Given the description of an element on the screen output the (x, y) to click on. 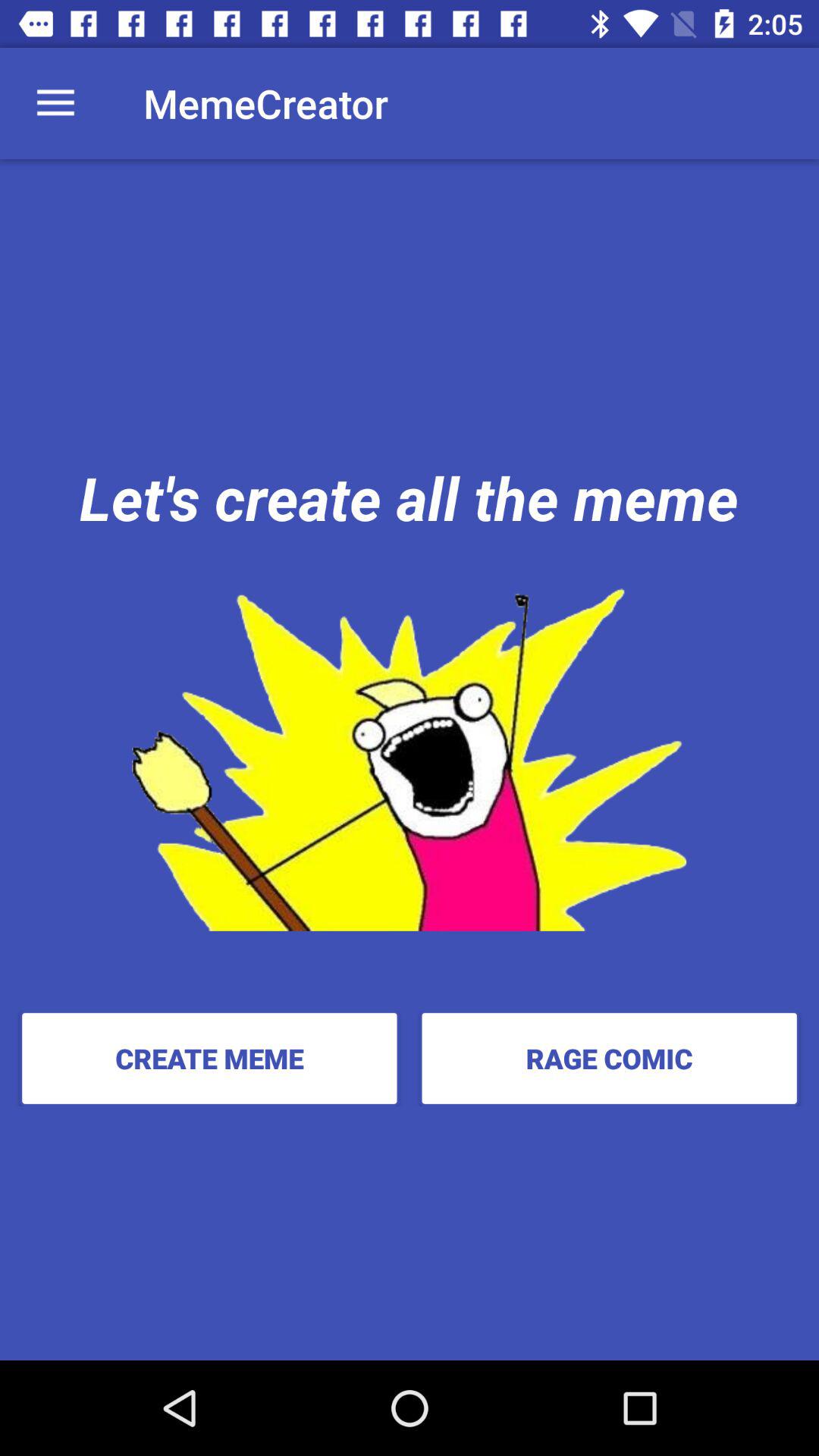
click the rage comic item (609, 1058)
